Given the description of an element on the screen output the (x, y) to click on. 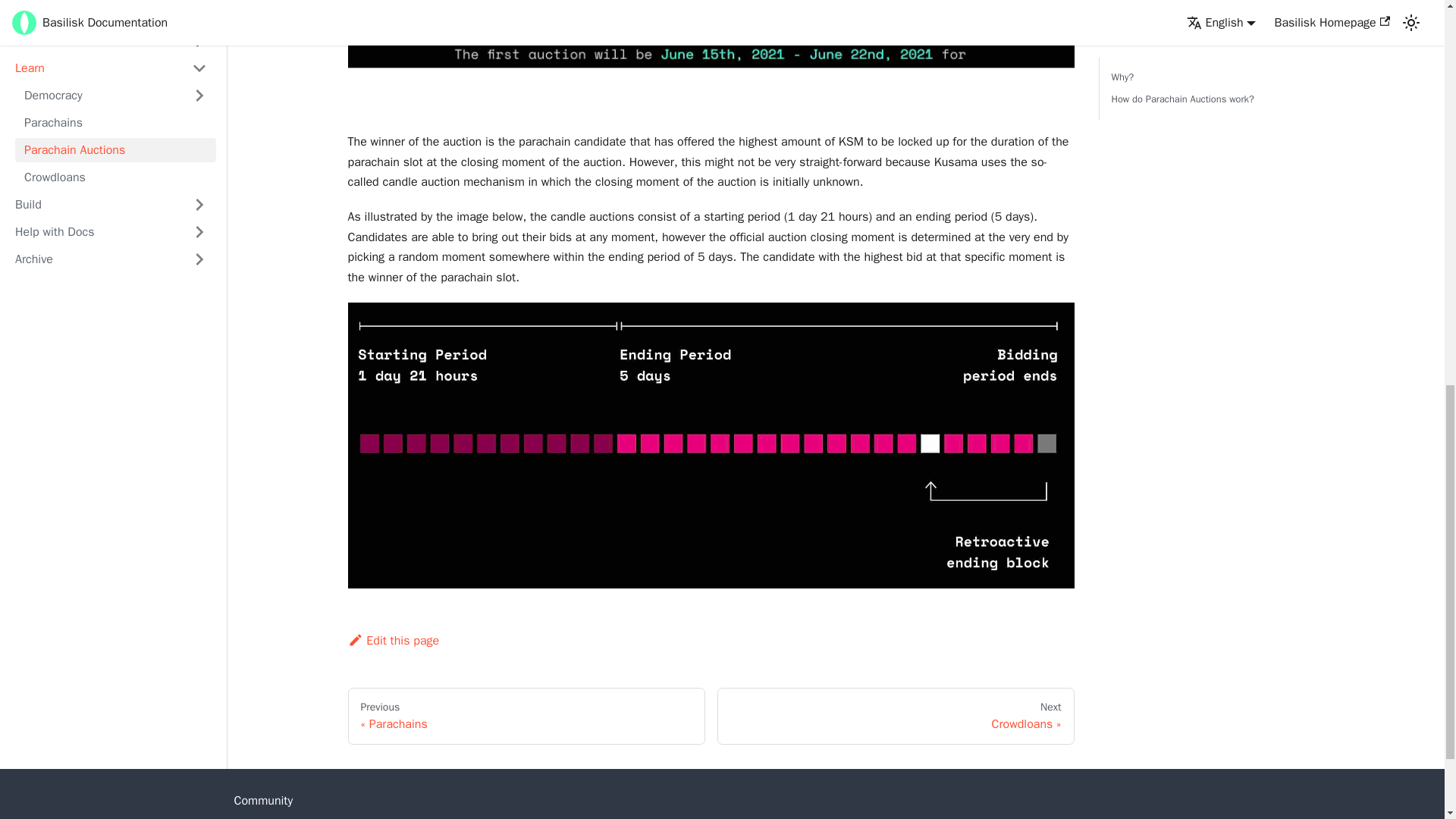
Edit this page (525, 715)
